Given the description of an element on the screen output the (x, y) to click on. 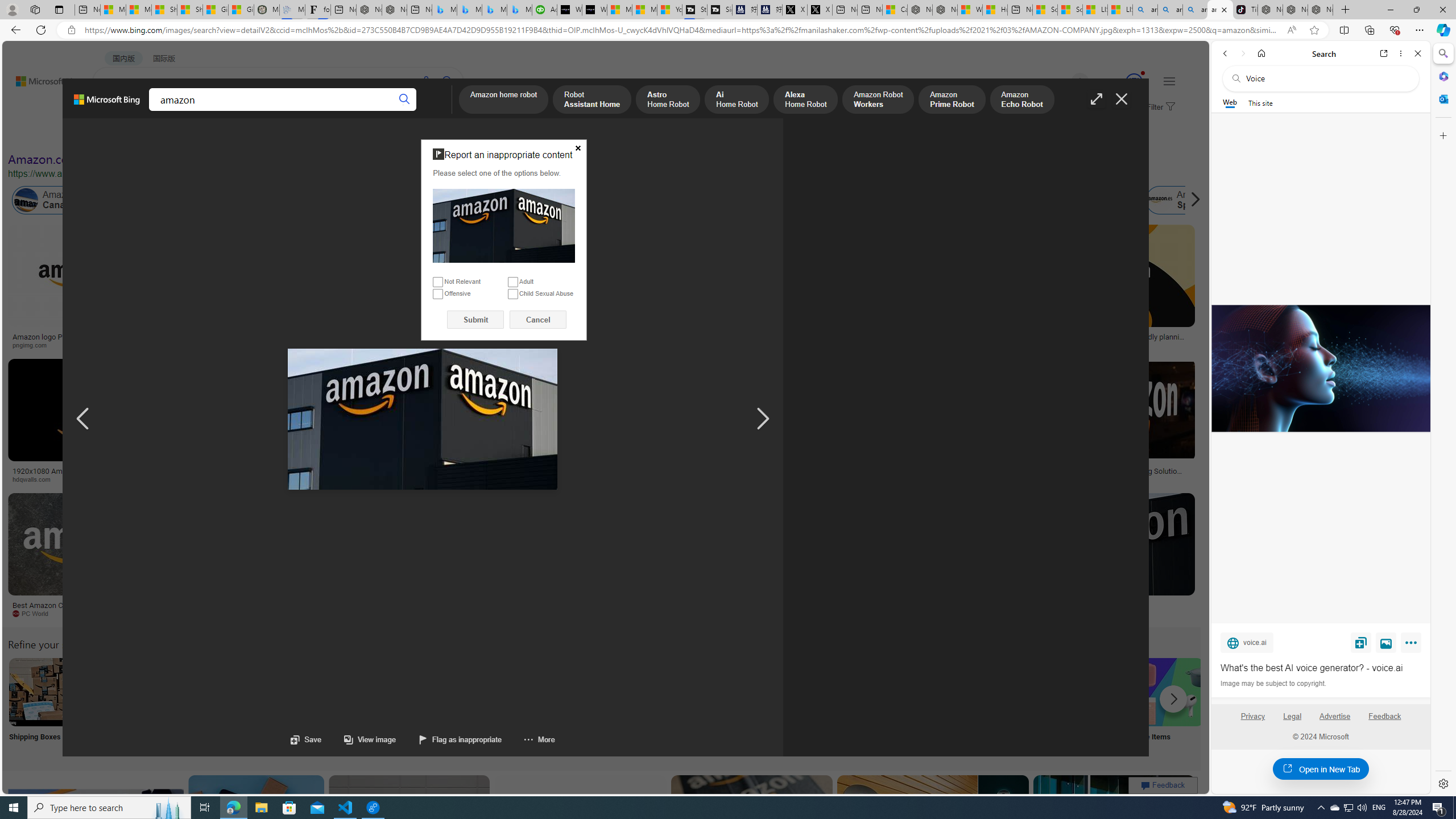
Marketplace (459, 479)
Amazon Retail Store Retail Store (493, 706)
protothema.gr (1105, 613)
Search using voice (426, 80)
Adult (512, 282)
Open in New Tab (1321, 768)
App bar (728, 29)
Open link in new tab (1383, 53)
Marketplace (397, 479)
Class: medal-circled (1133, 81)
View image (358, 739)
Settings (1442, 783)
X (819, 9)
Astro Home Robot (668, 100)
